Given the description of an element on the screen output the (x, y) to click on. 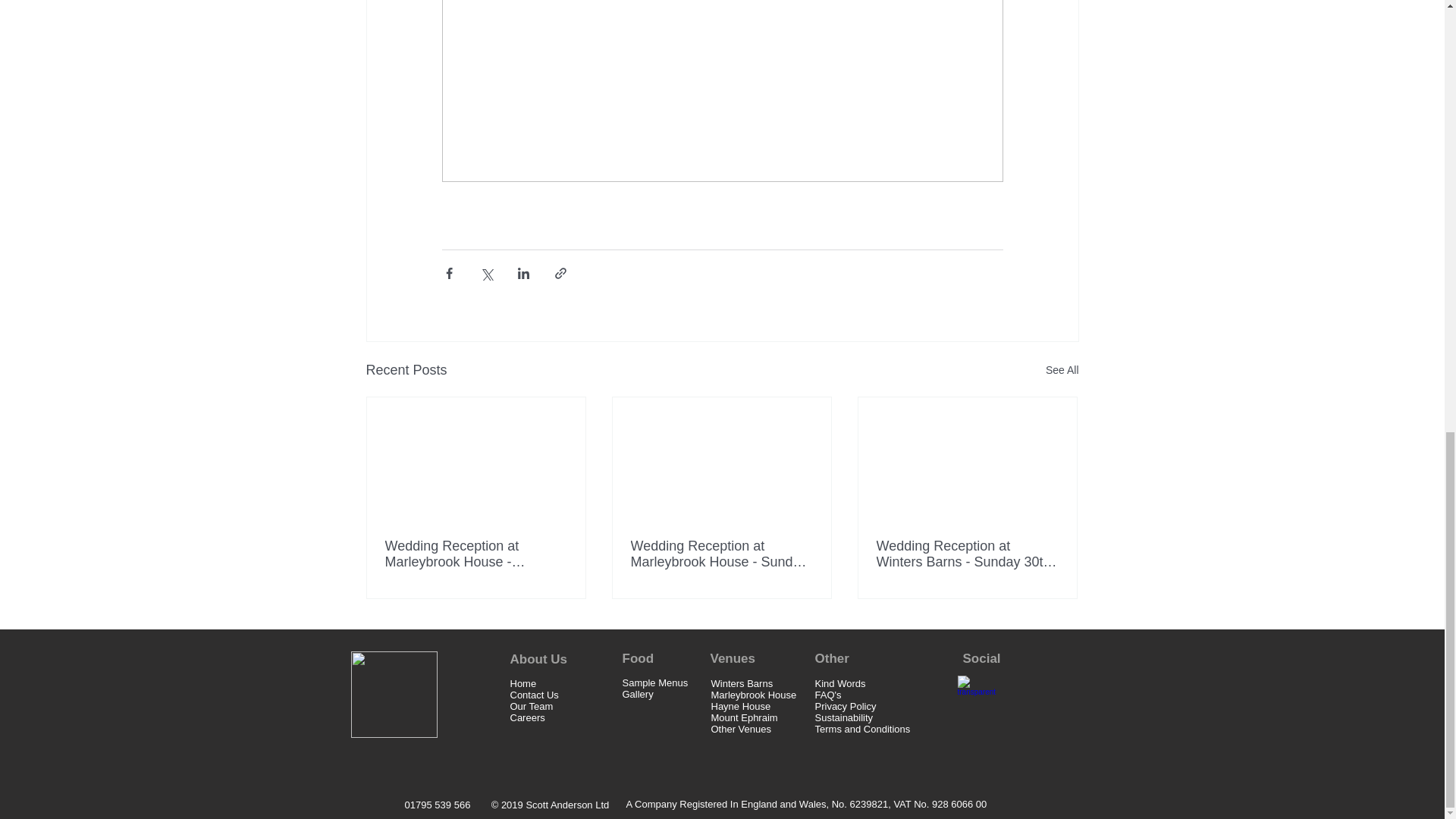
See All (1061, 370)
